Given the description of an element on the screen output the (x, y) to click on. 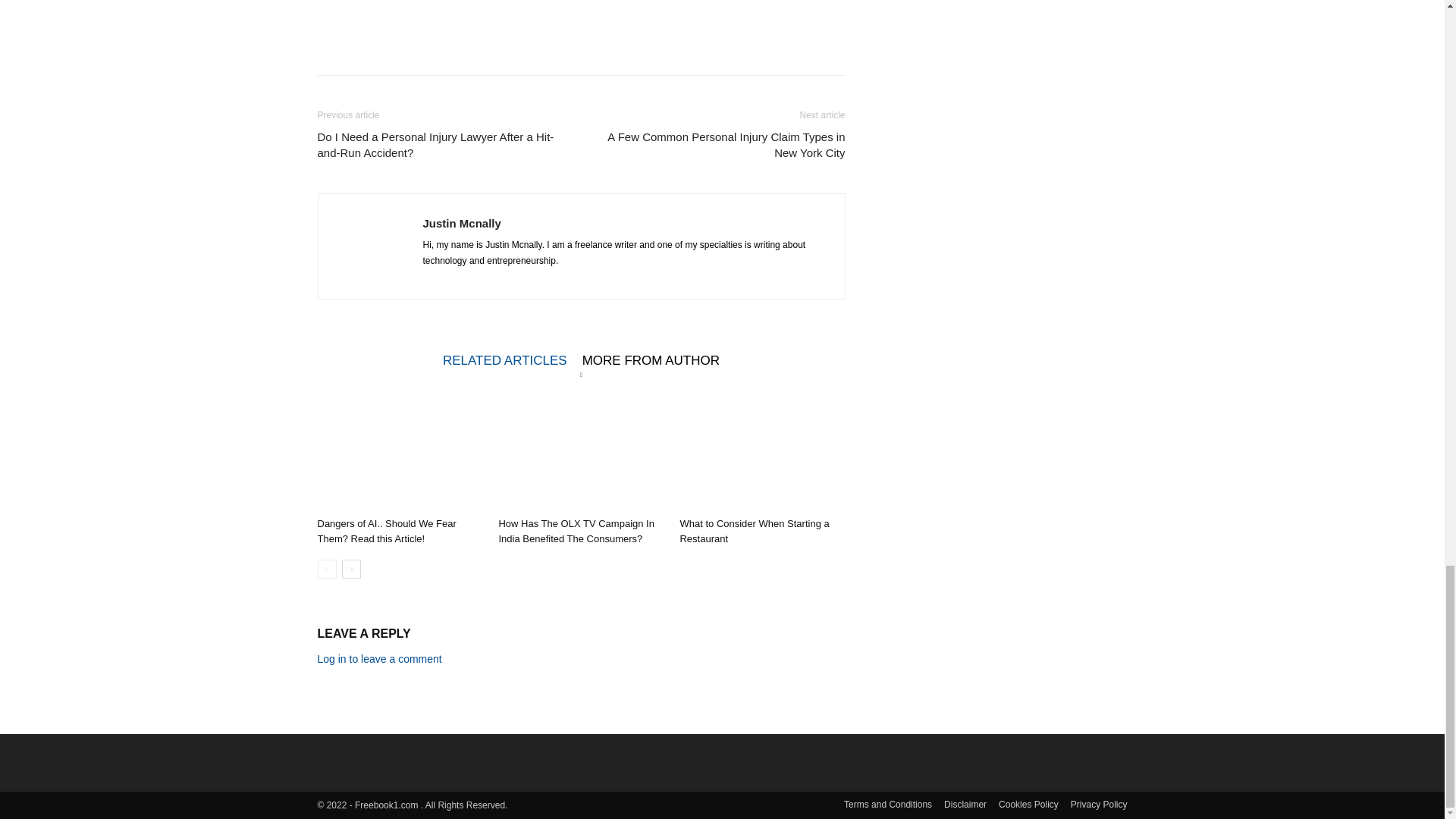
bottomFacebookLike (430, 10)
